Given the description of an element on the screen output the (x, y) to click on. 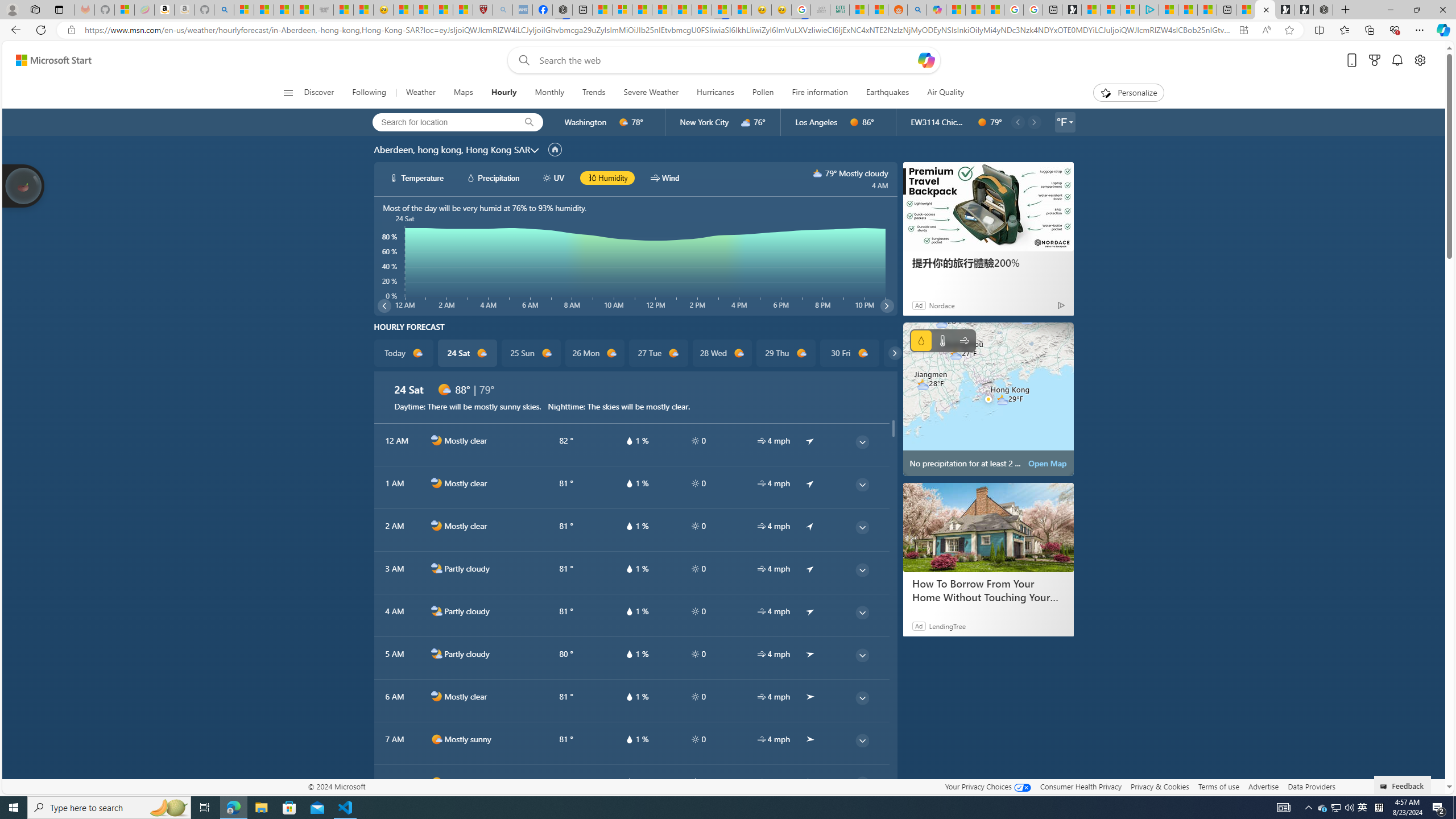
Wind (964, 340)
locationBar/triangle (1070, 122)
static map image of vector map (988, 398)
locationName/setHomeLocation (555, 149)
27 Tue d1000 (658, 352)
